Given the description of an element on the screen output the (x, y) to click on. 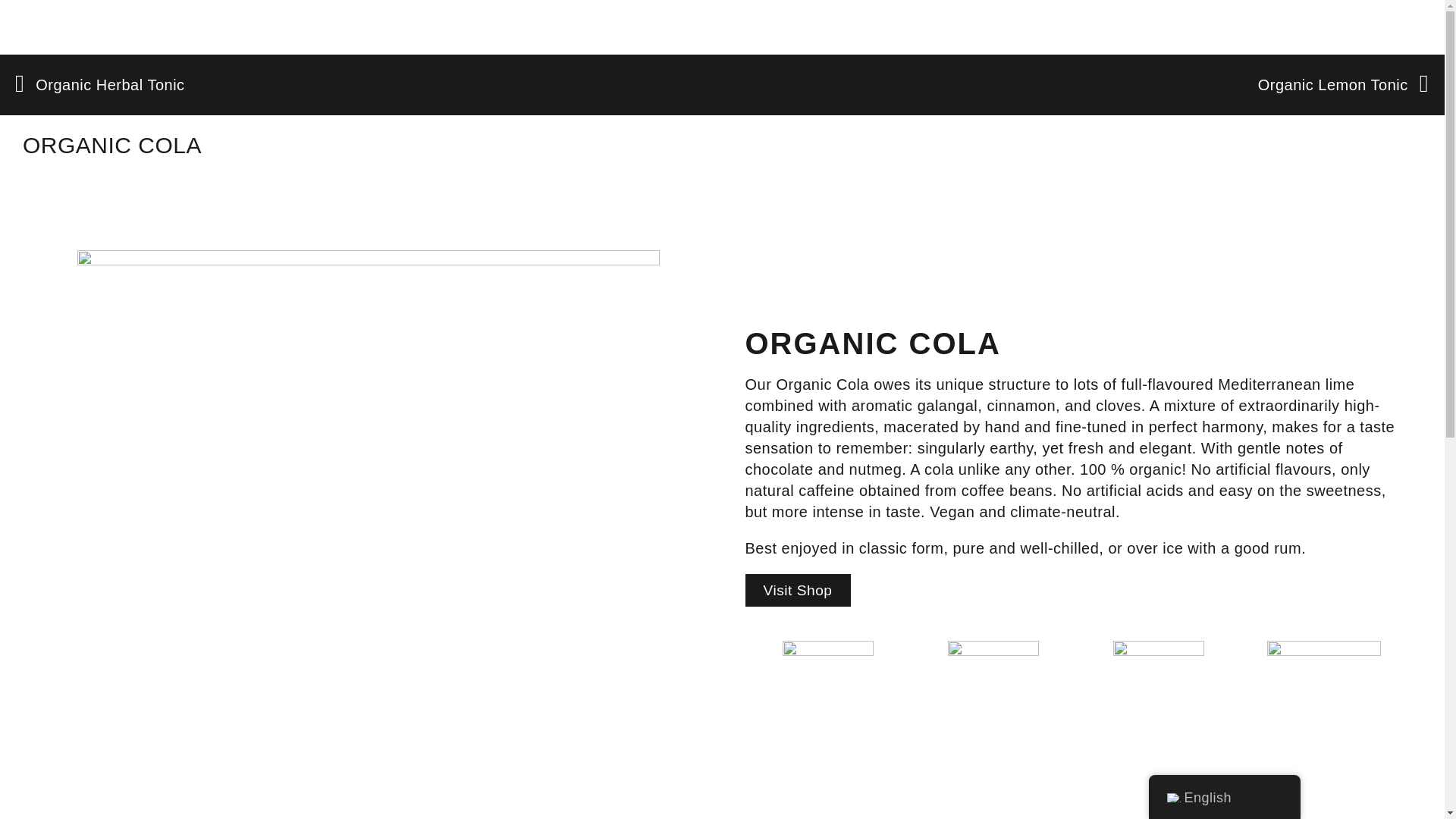
Organic Lemon Tonic (1342, 84)
Visit Shop (797, 590)
English (1172, 797)
Organic Herbal Tonic (368, 84)
